Given the description of an element on the screen output the (x, y) to click on. 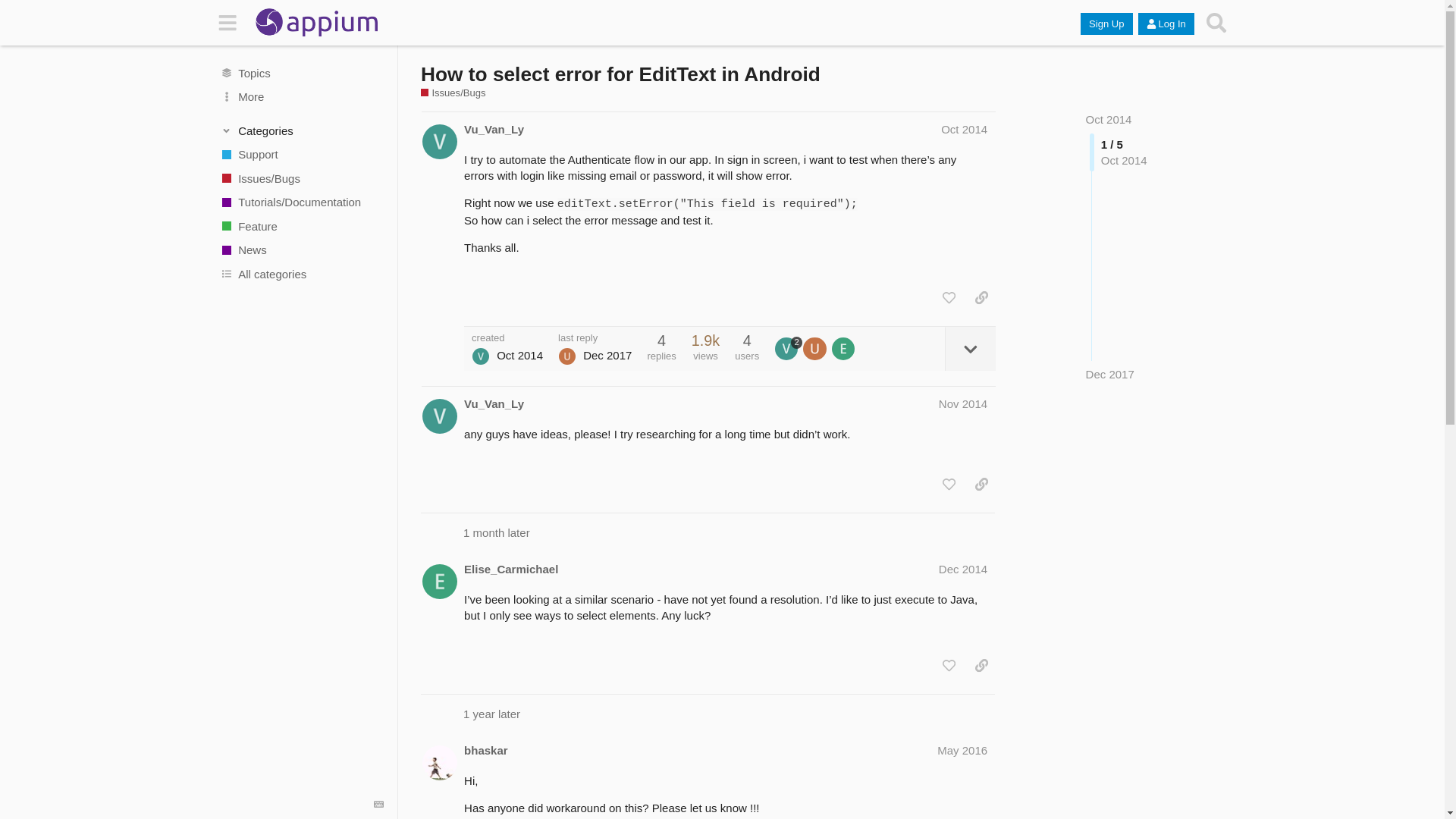
Feature (301, 225)
Post bugs or issue here (301, 178)
Dec 7, 2017 7:55 pm (1110, 373)
Ask questions about how to use or set up appium (301, 154)
Topics (301, 72)
2 (788, 348)
News about appium and related events (301, 250)
Post date (963, 128)
Sidebar (227, 22)
All topics (301, 72)
Toggle section (301, 130)
More (301, 96)
last reply (594, 337)
Dec 2017 (1110, 374)
